Given the description of an element on the screen output the (x, y) to click on. 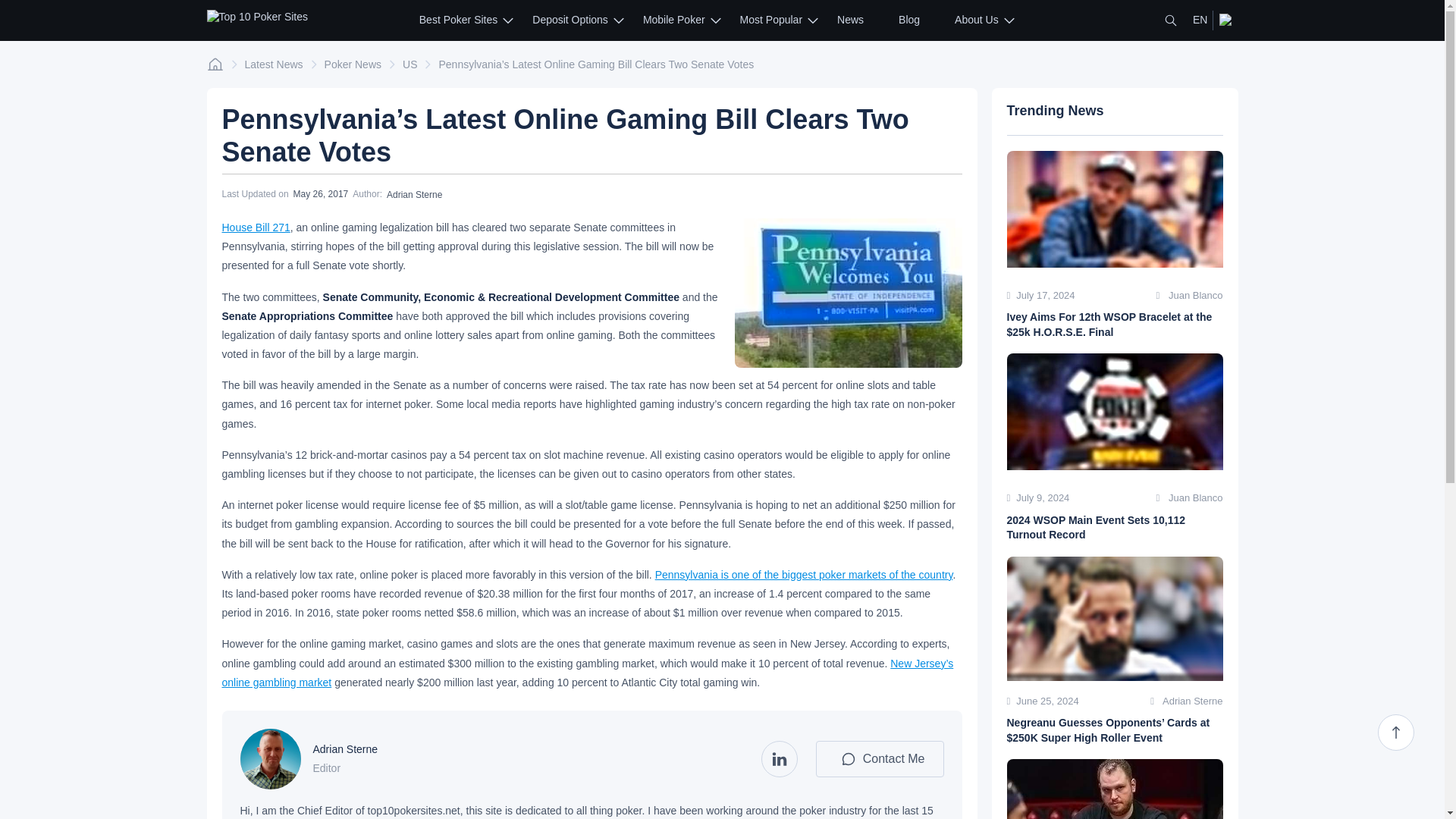
Deposit Options (570, 19)
View all posts in Poker News (352, 64)
Home (214, 64)
Best Poker Sites (458, 19)
Mobile Poker (673, 19)
View all posts in US (409, 64)
Most Popular (770, 19)
Latest News (273, 64)
